Given the description of an element on the screen output the (x, y) to click on. 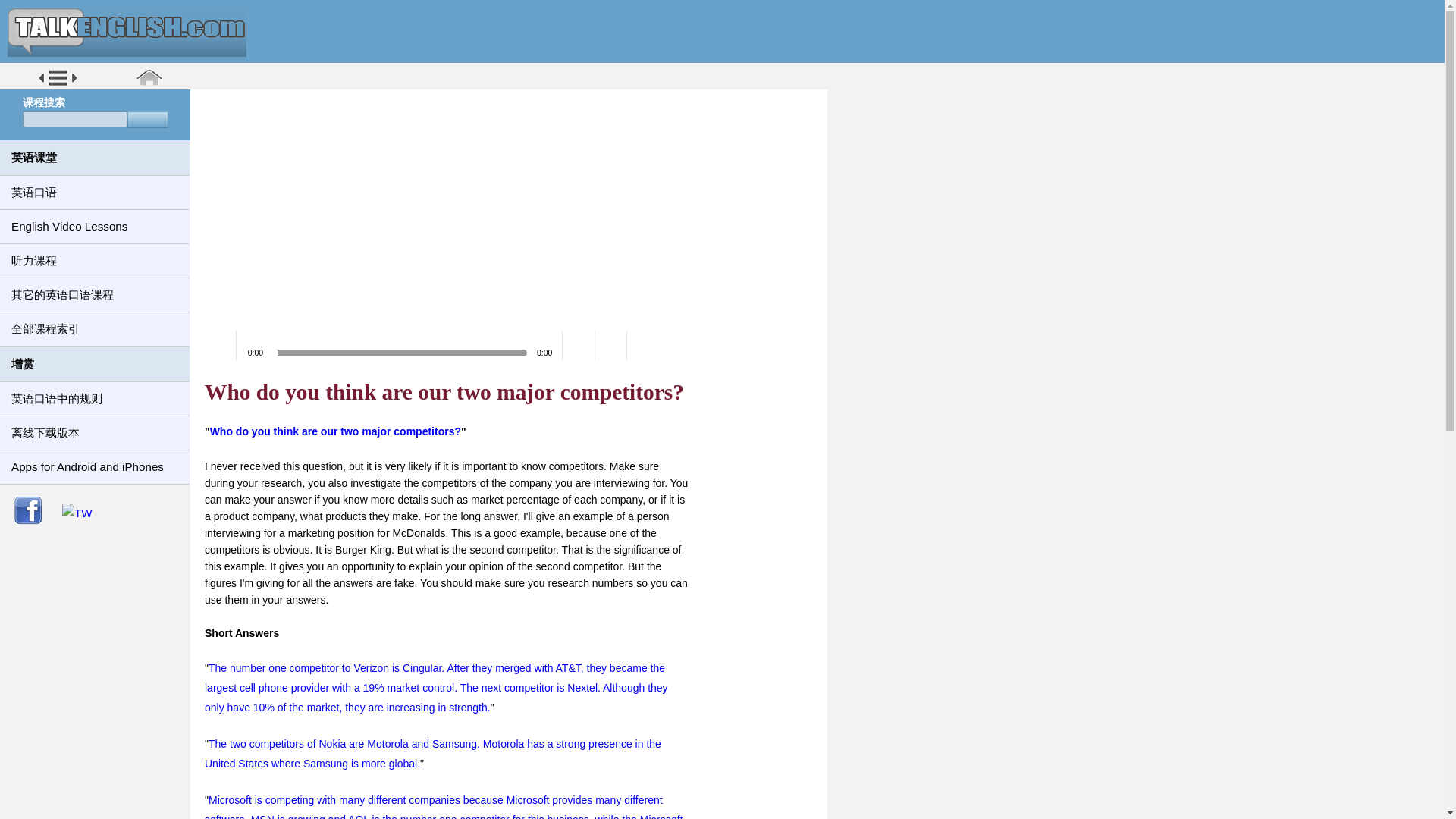
Previous (611, 345)
English Video Lessons (94, 226)
Next (643, 345)
Apps for Android and iPhones (94, 467)
